Given the description of an element on the screen output the (x, y) to click on. 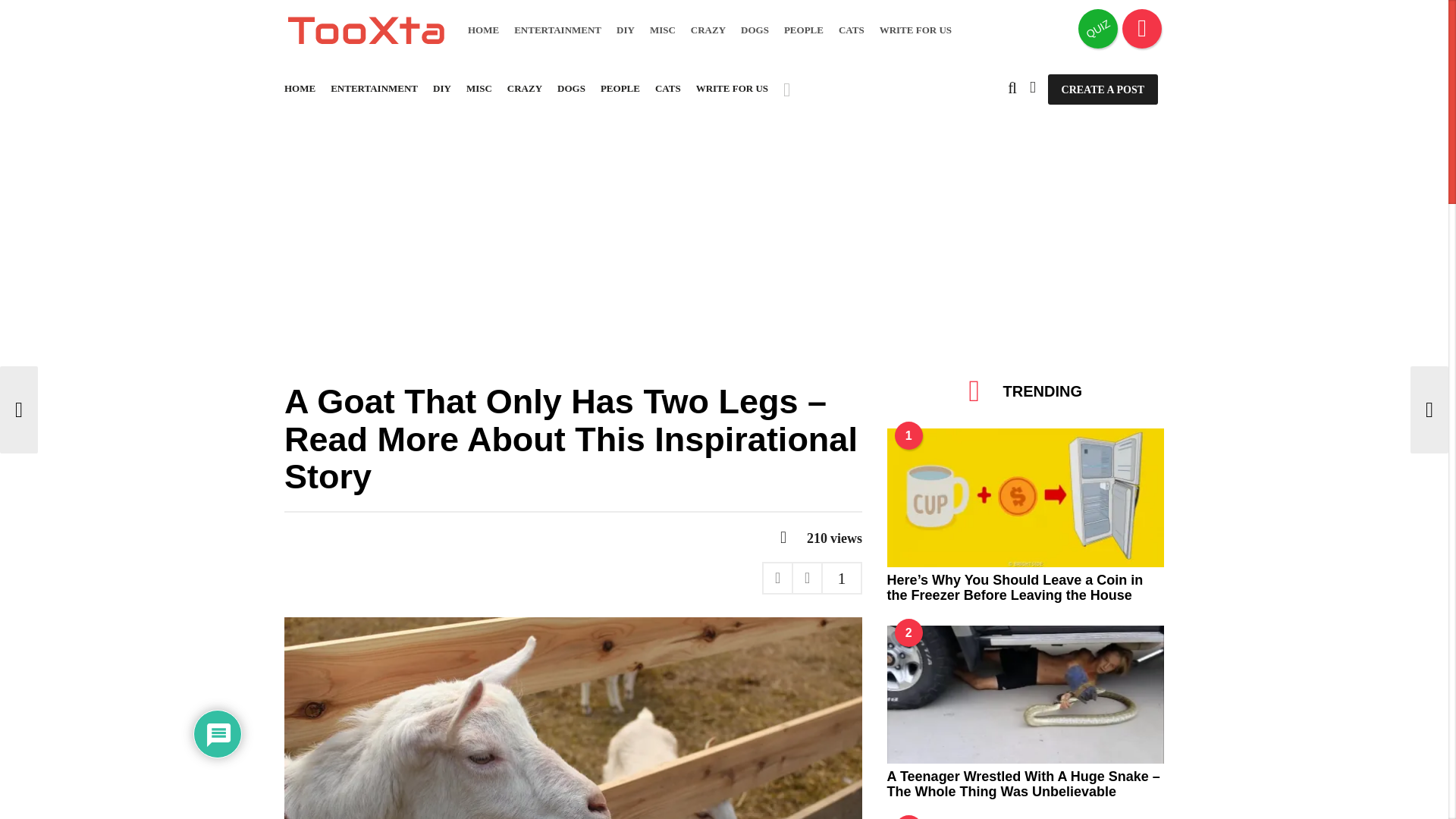
Trending (1141, 28)
WRITE FOR US (915, 30)
DOGS (754, 30)
CRAZY (707, 30)
CATS (851, 30)
Quiz (1098, 28)
PEOPLE (804, 30)
MISC (662, 30)
DIY (624, 30)
ENTERTAINMENT (557, 30)
QUIZ (1098, 28)
HOME (483, 30)
